Given the description of an element on the screen output the (x, y) to click on. 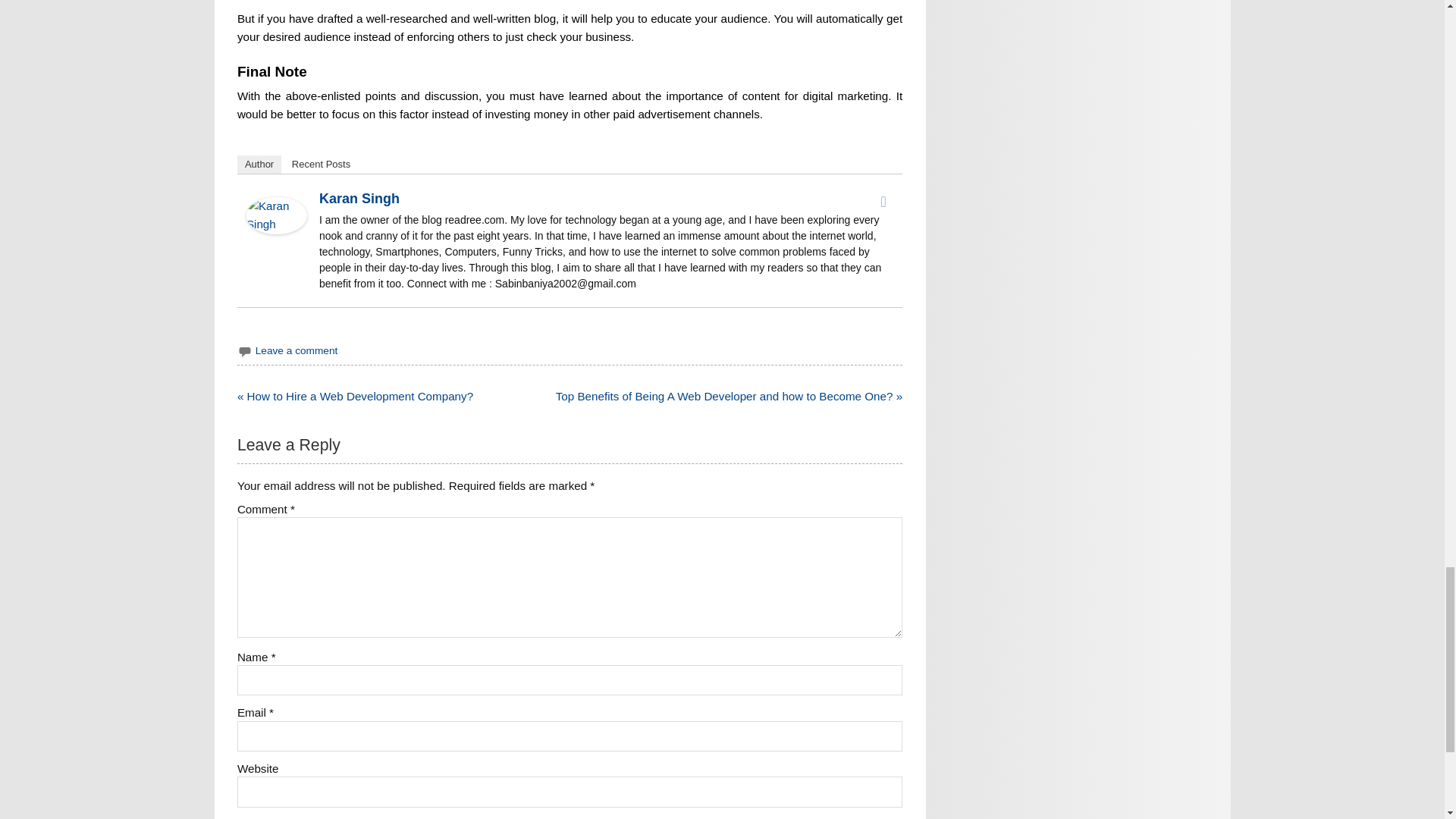
Karan Singh (276, 229)
Facebook (883, 201)
Karan Singh (358, 198)
Author (259, 164)
Recent Posts (320, 164)
